Given the description of an element on the screen output the (x, y) to click on. 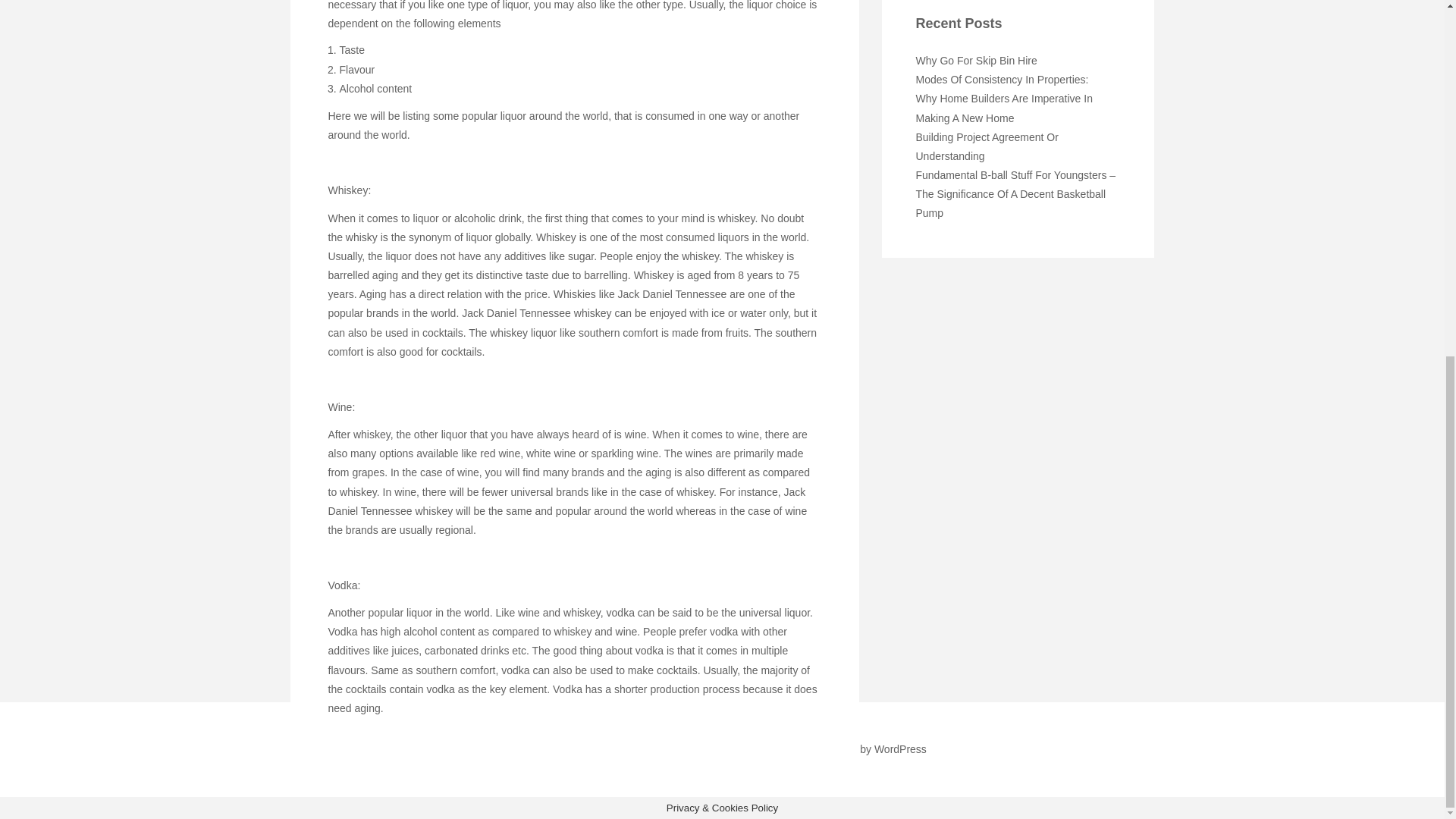
Modes Of Consistency In Properties: (1002, 79)
Building Project Agreement Or Understanding (986, 146)
Why Home Builders Are Imperative In Making A New Home (1004, 107)
Why Go For Skip Bin Hire (975, 60)
